Given the description of an element on the screen output the (x, y) to click on. 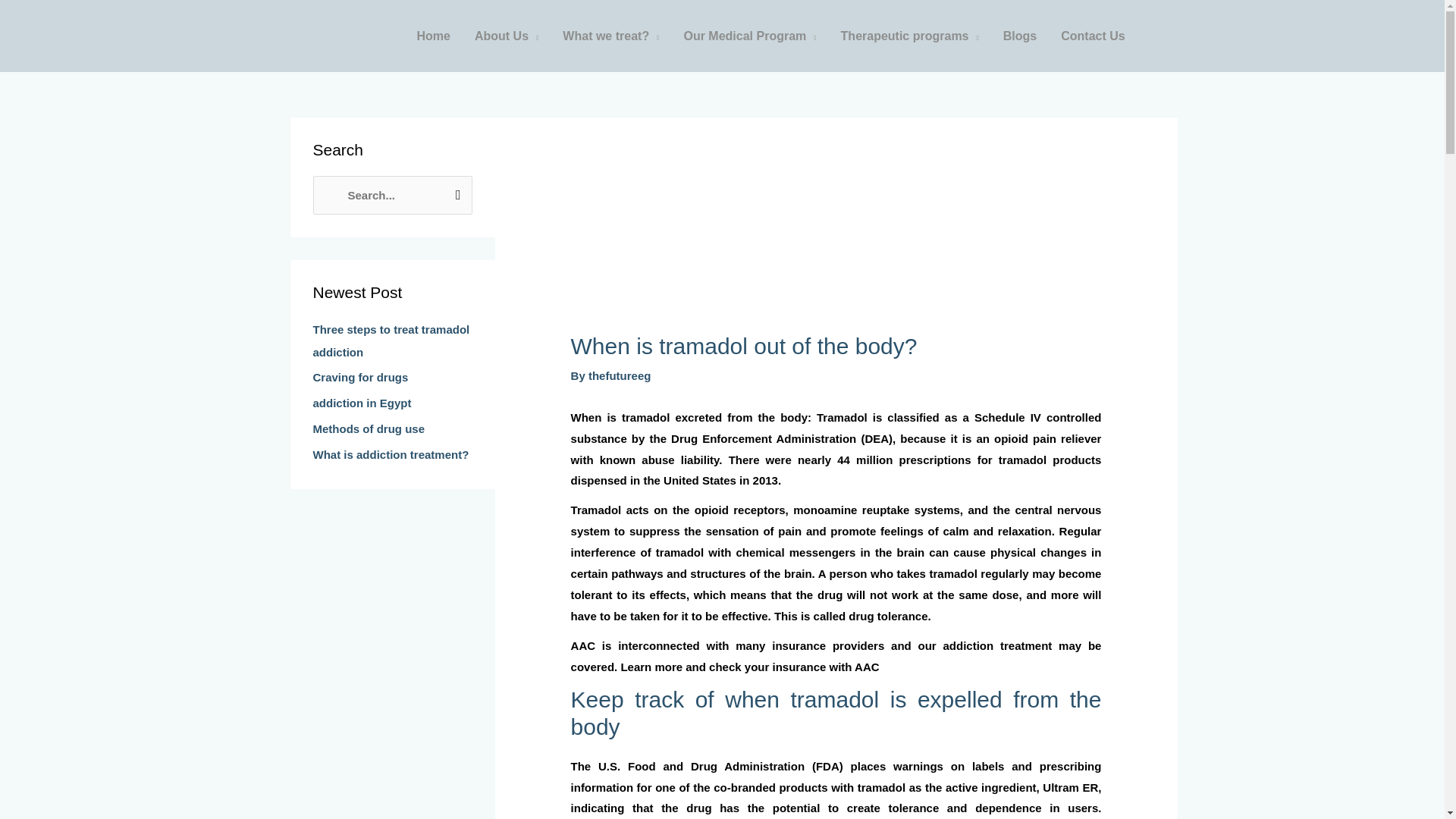
View all posts by thefutureeg (619, 375)
About Us (506, 36)
What we treat? (610, 36)
Home (433, 36)
Our Medical Program (749, 36)
